Given the description of an element on the screen output the (x, y) to click on. 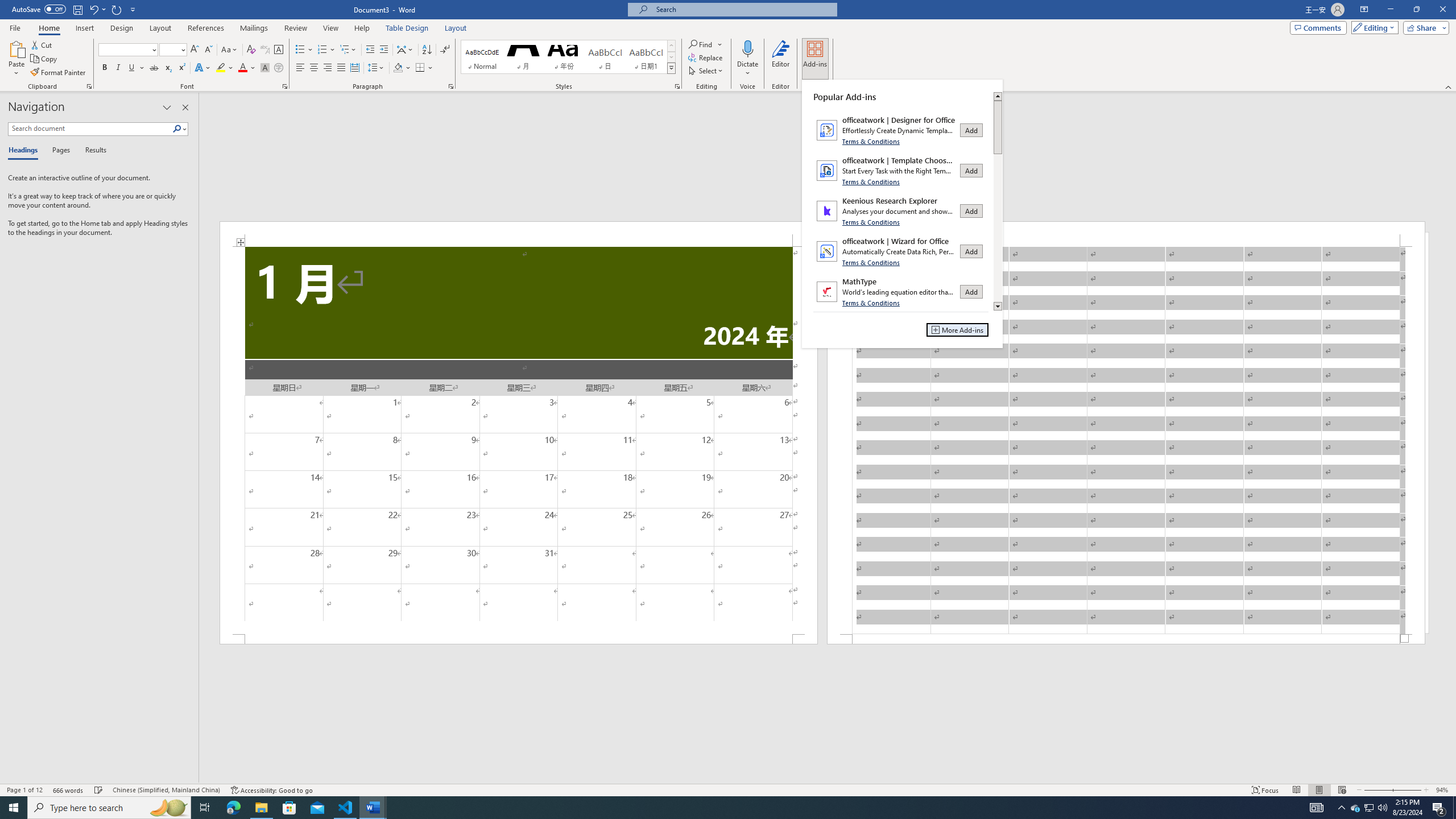
Word Count 666 words (68, 790)
